Given the description of an element on the screen output the (x, y) to click on. 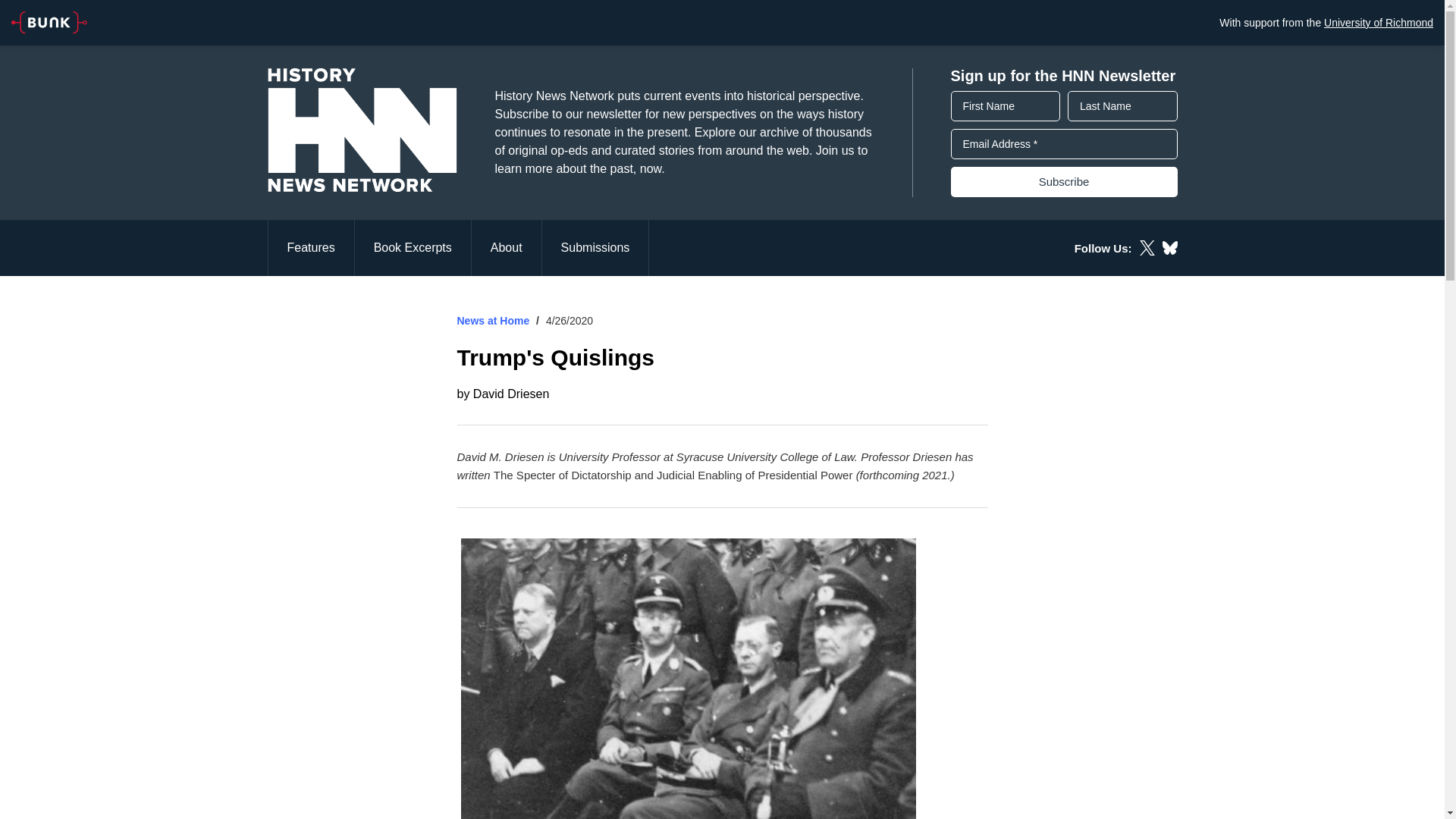
News at Home (493, 320)
Subscribe (1063, 182)
Submissions (595, 248)
Subscribe (1063, 182)
About (506, 248)
Book Excerpts (413, 248)
Follow HNN on X, formerly Twitter (1146, 247)
Follow HNN on Bluesky (1168, 247)
University of Richmond (1377, 22)
Features (309, 248)
